Given the description of an element on the screen output the (x, y) to click on. 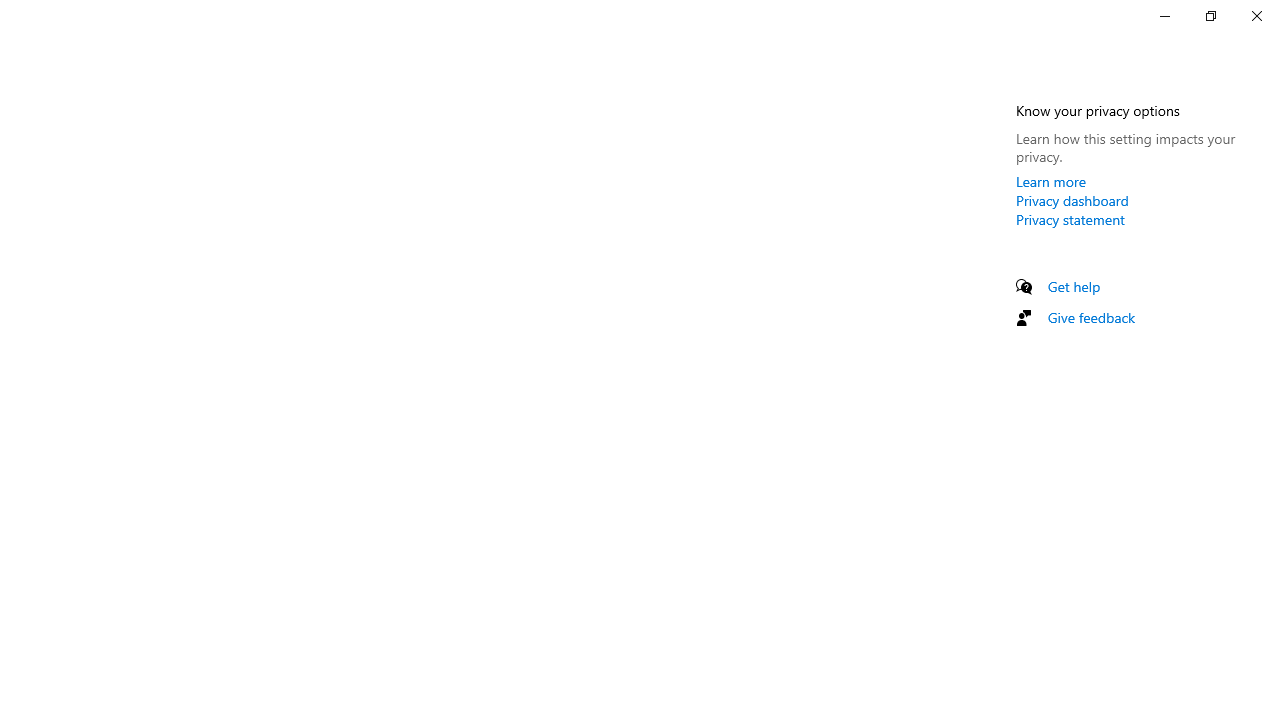
Learn more (1051, 181)
Privacy dashboard (1072, 200)
Privacy statement (1070, 219)
